Given the description of an element on the screen output the (x, y) to click on. 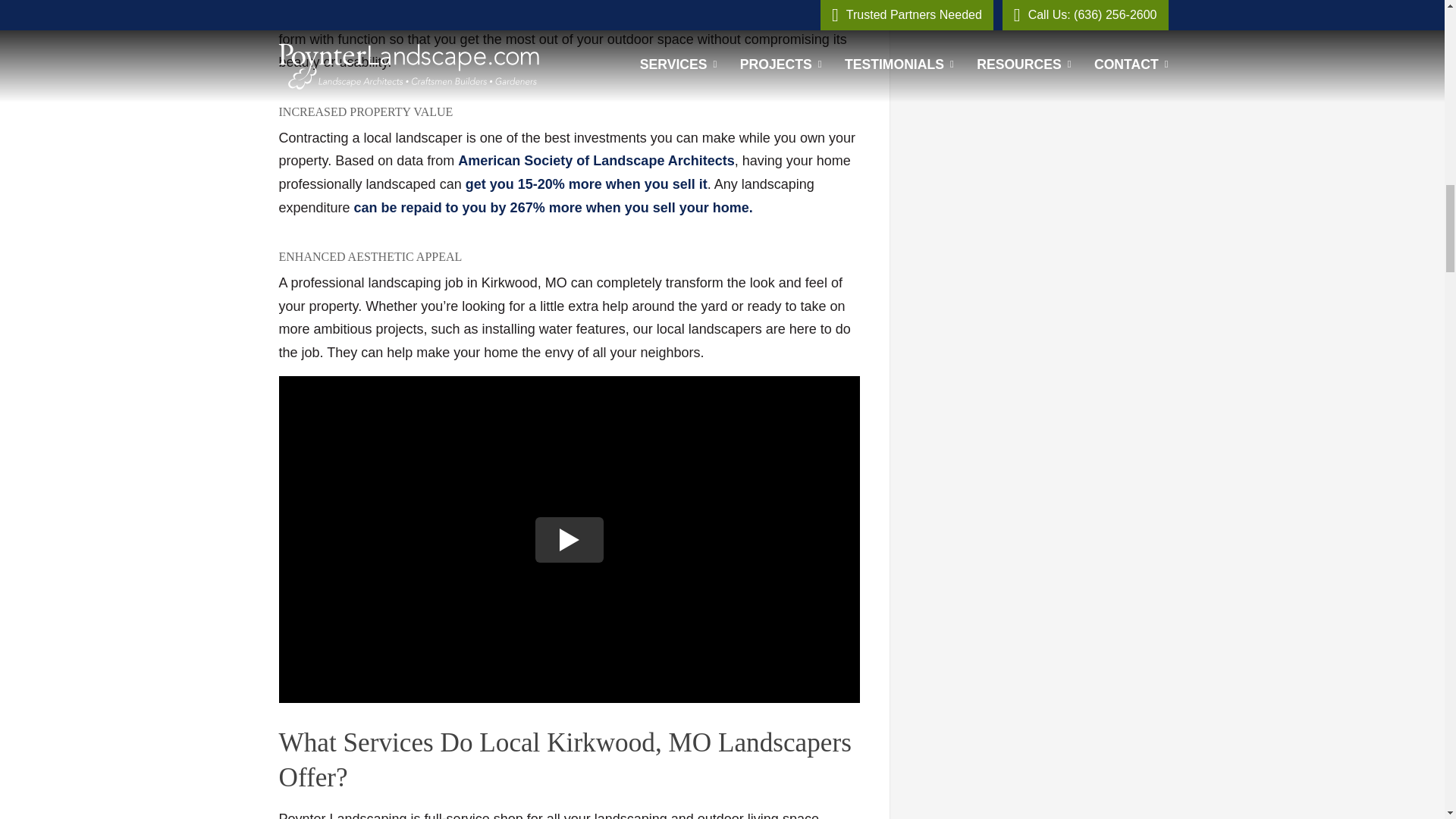
ASLA (595, 160)
ASLA (586, 183)
Realtor (552, 207)
